Given the description of an element on the screen output the (x, y) to click on. 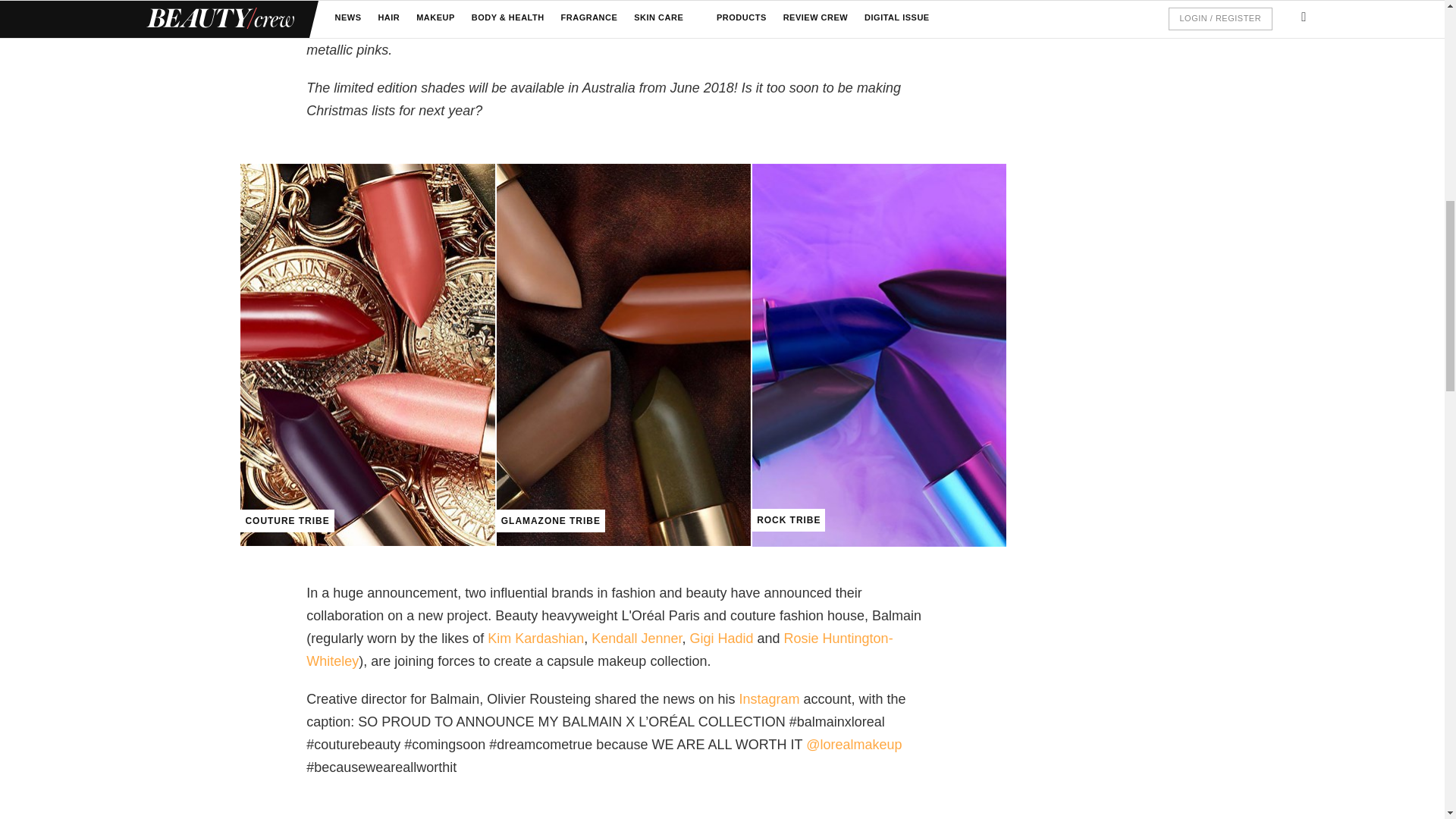
Gigi Hadid Glowing Skin Makeup Tutorial (720, 638)
Kim Kardashian Shares Her Daily Makeup Routine (535, 638)
Rosie Huntington-Whiteley Shows Us How She Does Her Makeup (599, 649)
Kendall Jenner Best Beauty Looks (636, 638)
